Given the description of an element on the screen output the (x, y) to click on. 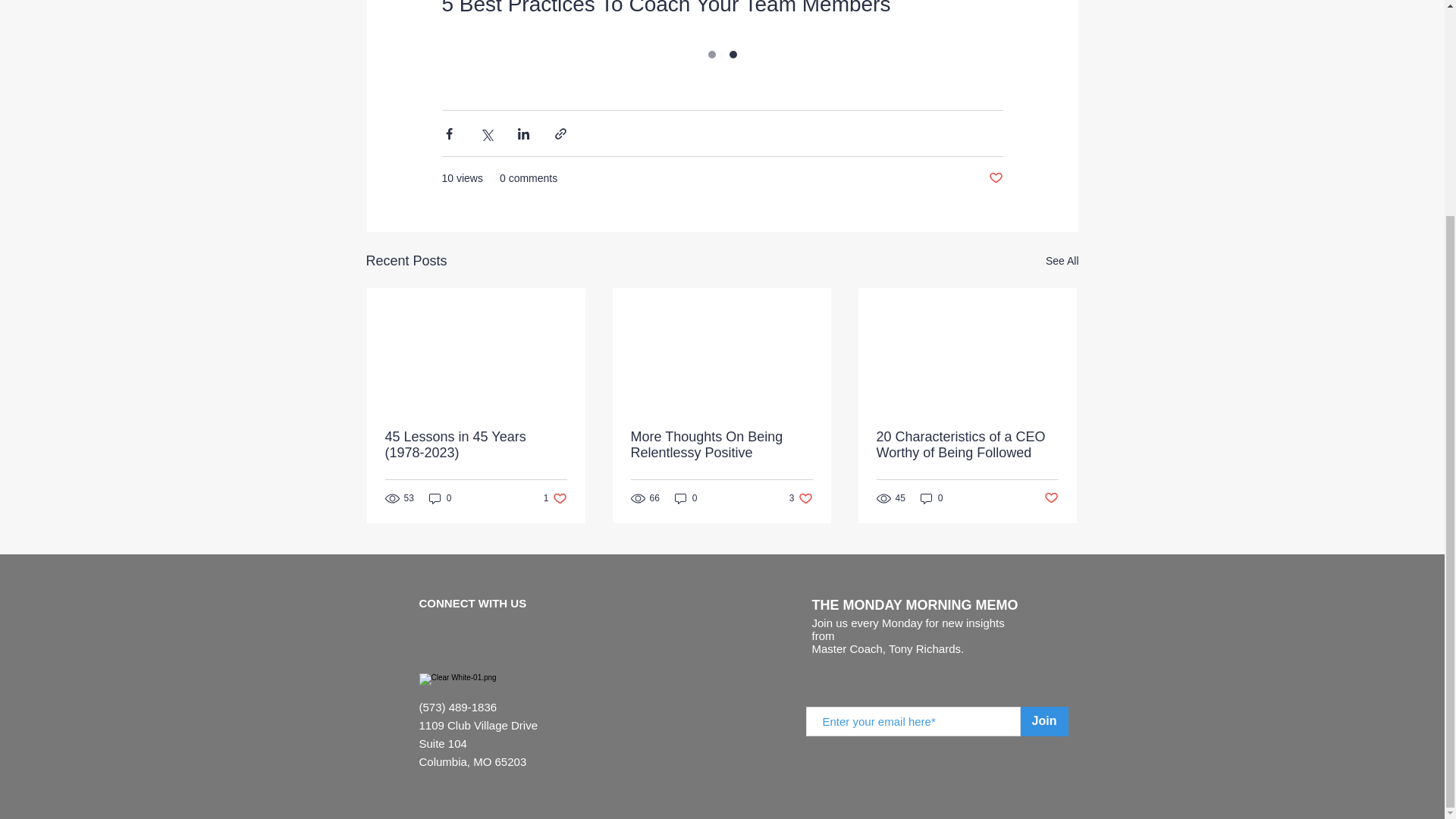
Post not marked as liked (995, 178)
0 (800, 497)
See All (931, 497)
Post not marked as liked (1061, 260)
More Thoughts On Being Relentlessy Positive (1050, 498)
0 (721, 445)
20 Characteristics of a CEO Worthy of Being Followed (440, 497)
0 (967, 445)
Join (685, 497)
